Given the description of an element on the screen output the (x, y) to click on. 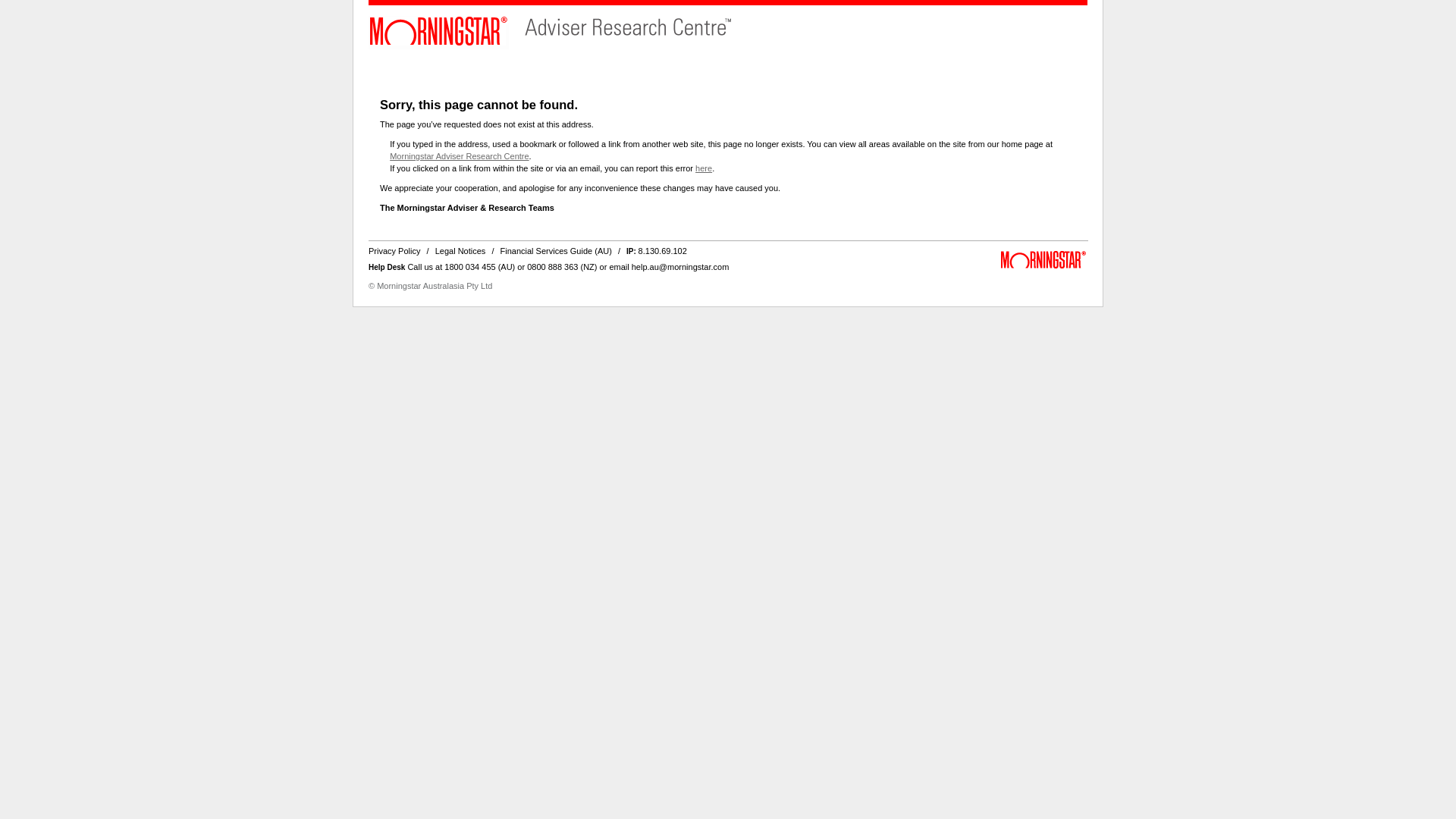
Privacy Policy Element type: text (394, 250)
Legal Notices Element type: text (460, 250)
here Element type: text (703, 167)
Financial Services Guide (AU) Element type: text (555, 250)
Morningstar Adviser Research Centre Element type: text (458, 155)
help.au@morningstar.com Element type: text (680, 266)
